Given the description of an element on the screen output the (x, y) to click on. 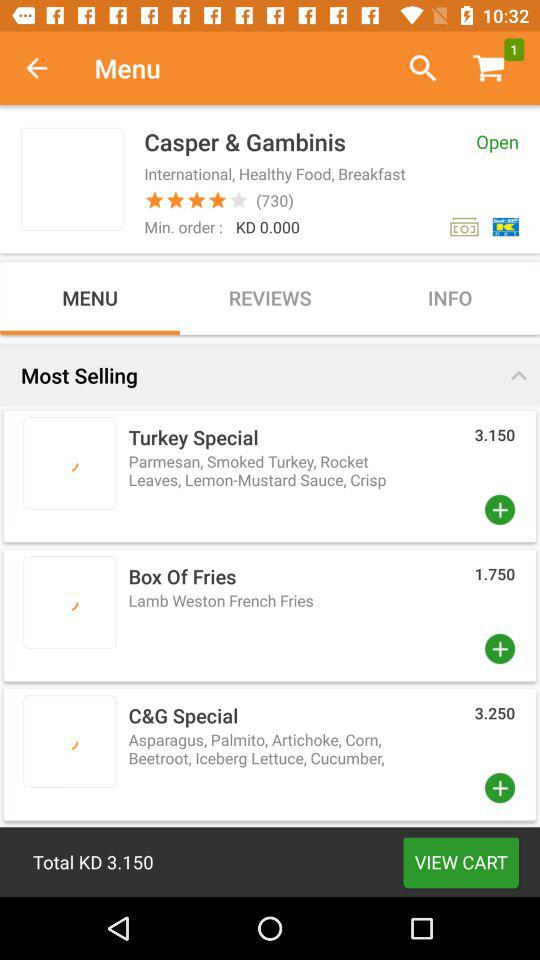
select box above cg special (269, 615)
